Given the description of an element on the screen output the (x, y) to click on. 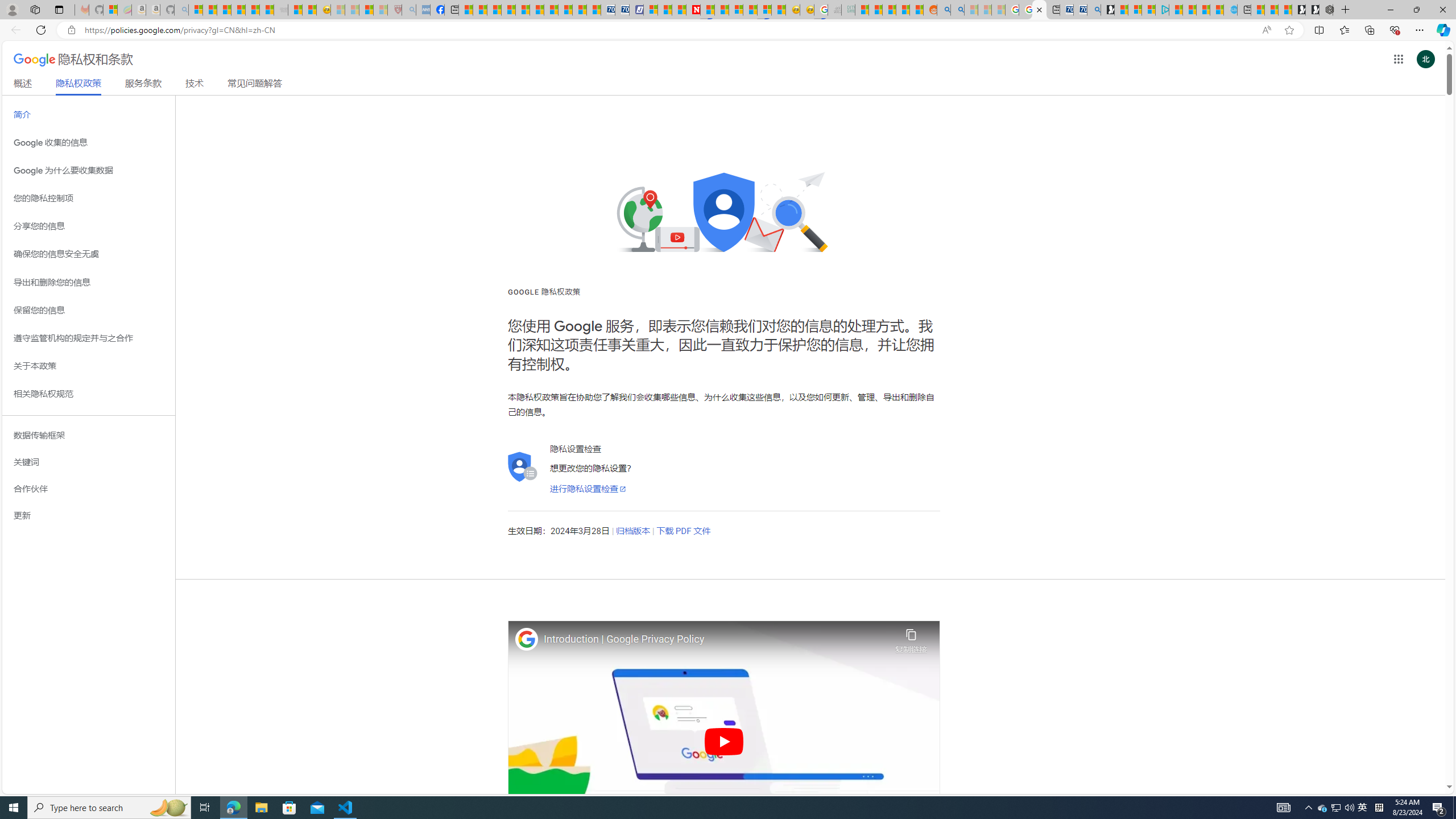
12 Popular Science Lies that Must be Corrected - Sleeping (380, 9)
